Given the description of an element on the screen output the (x, y) to click on. 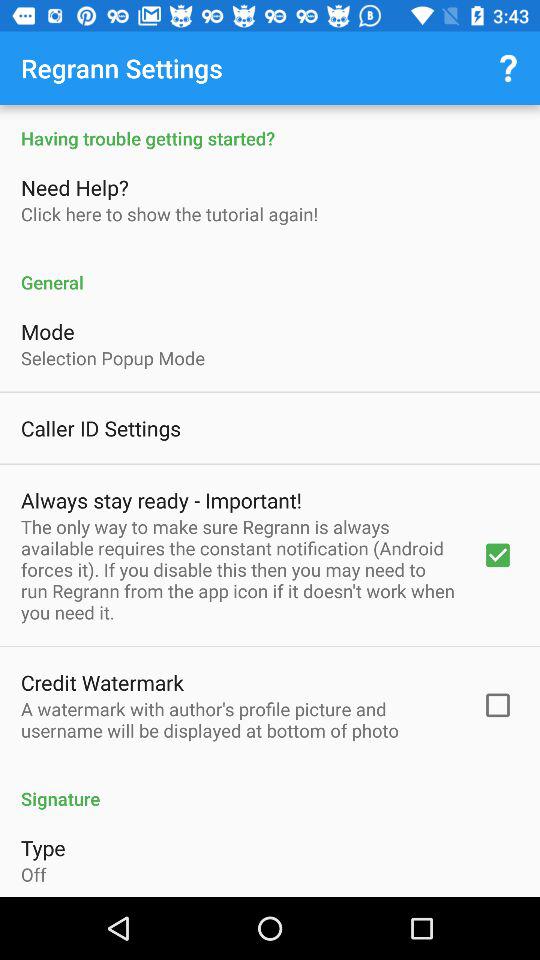
turn on item above caller id settings (113, 357)
